Given the description of an element on the screen output the (x, y) to click on. 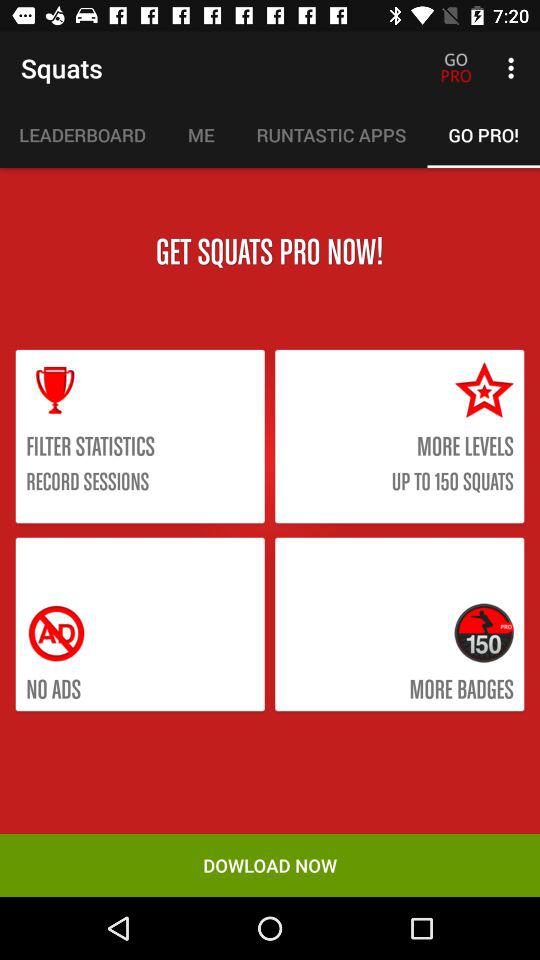
turn on runtastic apps icon (331, 135)
